Given the description of an element on the screen output the (x, y) to click on. 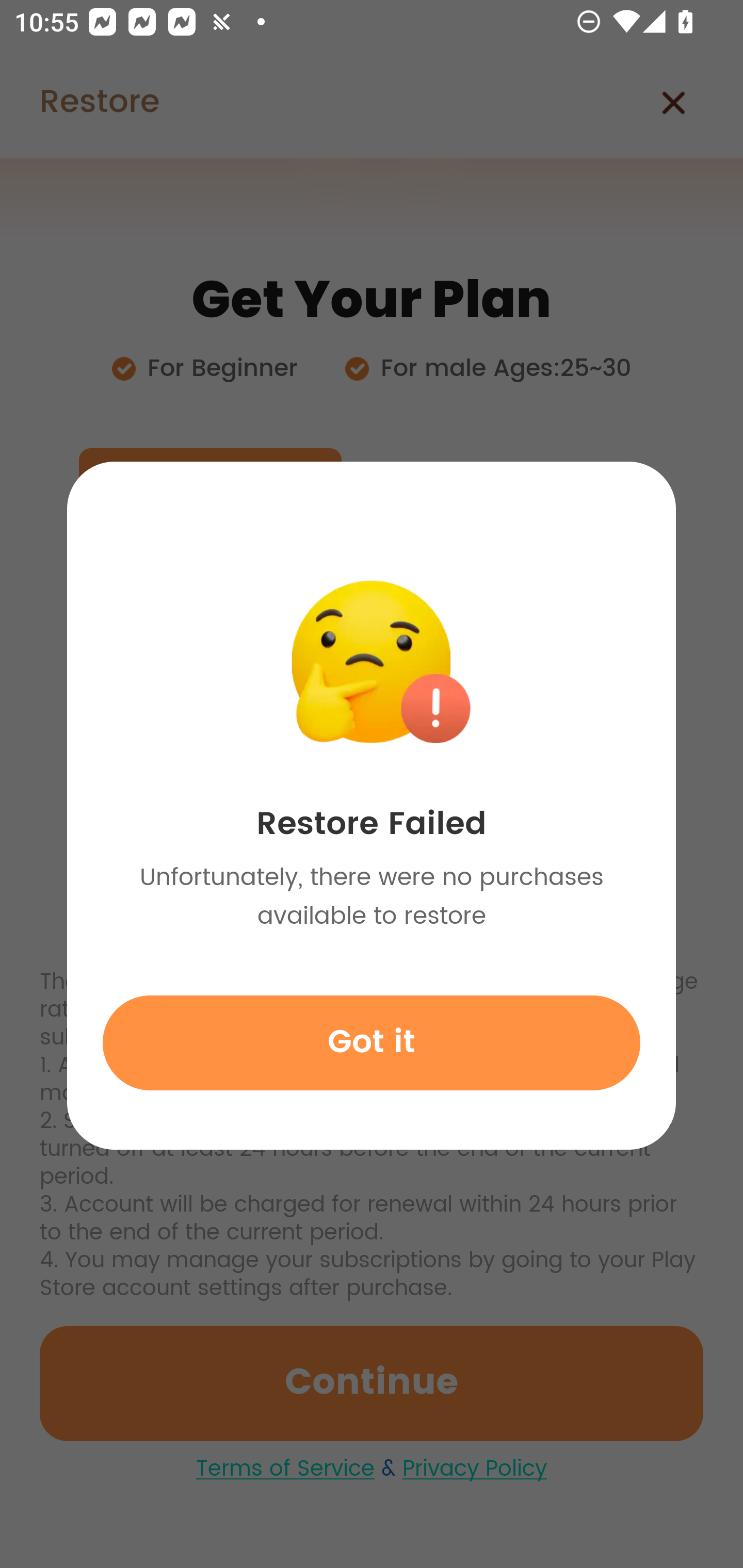
Got it (371, 1042)
